Given the description of an element on the screen output the (x, y) to click on. 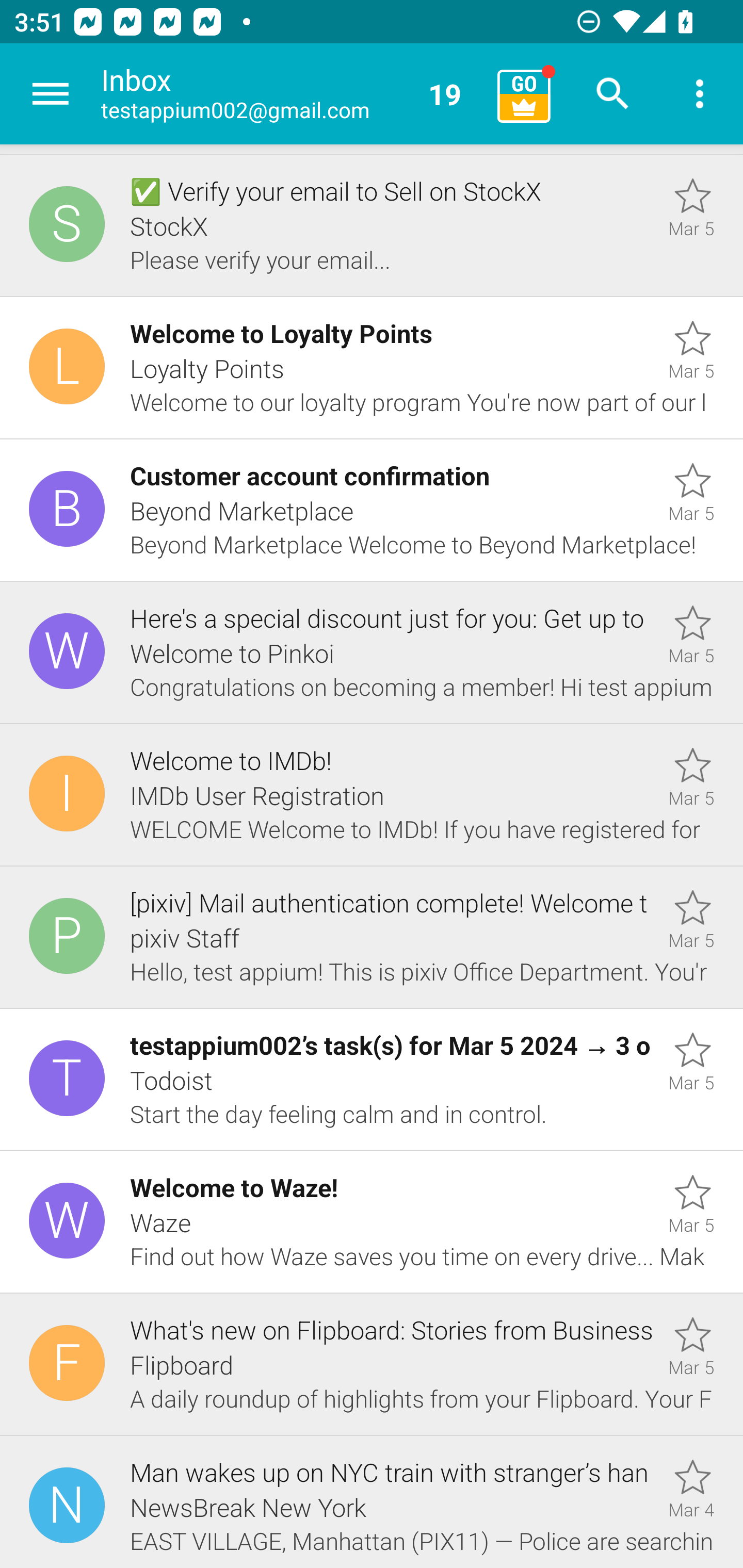
Navigate up (50, 93)
Inbox testappium002@gmail.com 19 (291, 93)
Search (612, 93)
More options (699, 93)
